Given the description of an element on the screen output the (x, y) to click on. 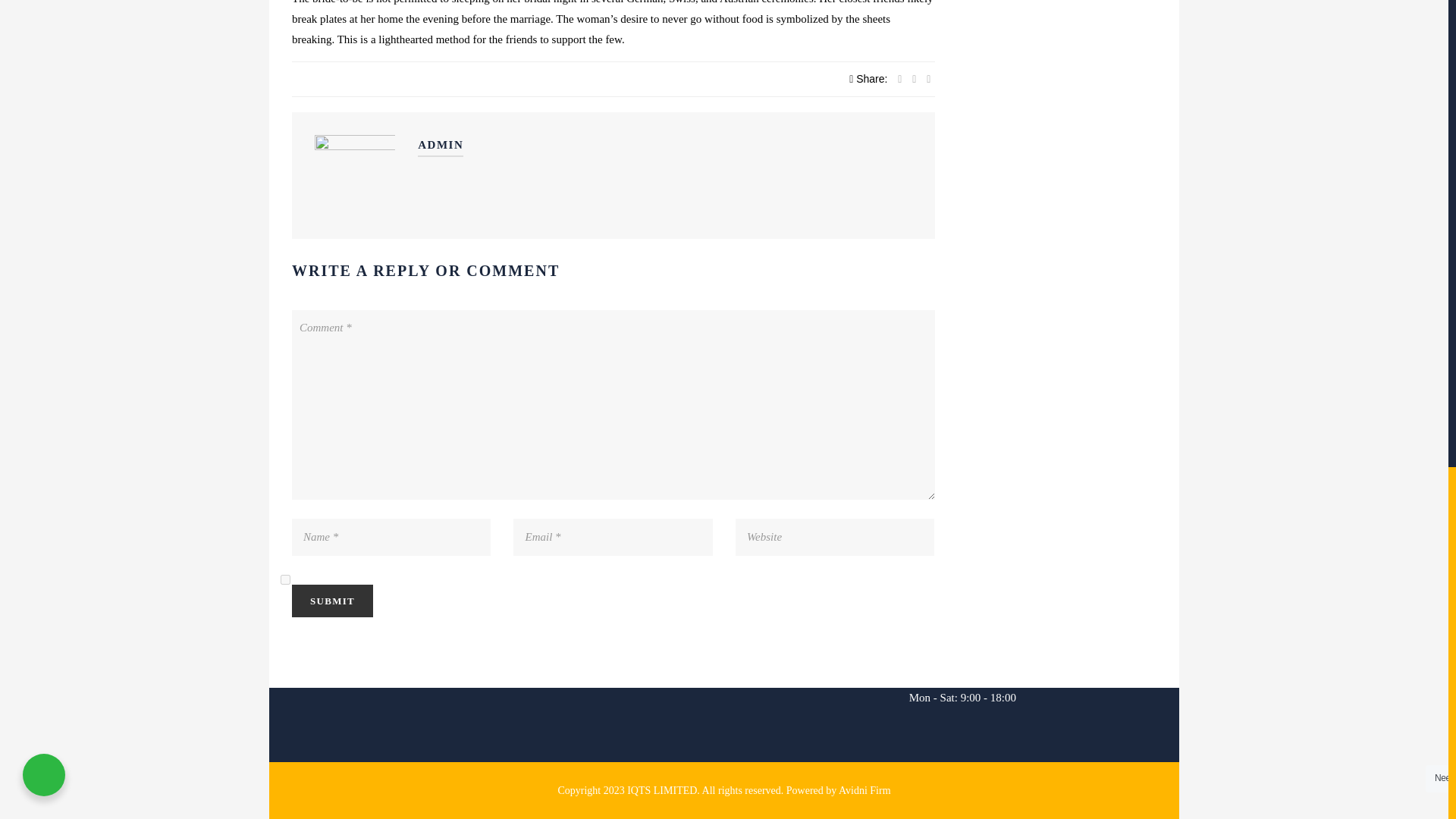
Submit (332, 600)
yes (285, 579)
Submit (332, 600)
